Given the description of an element on the screen output the (x, y) to click on. 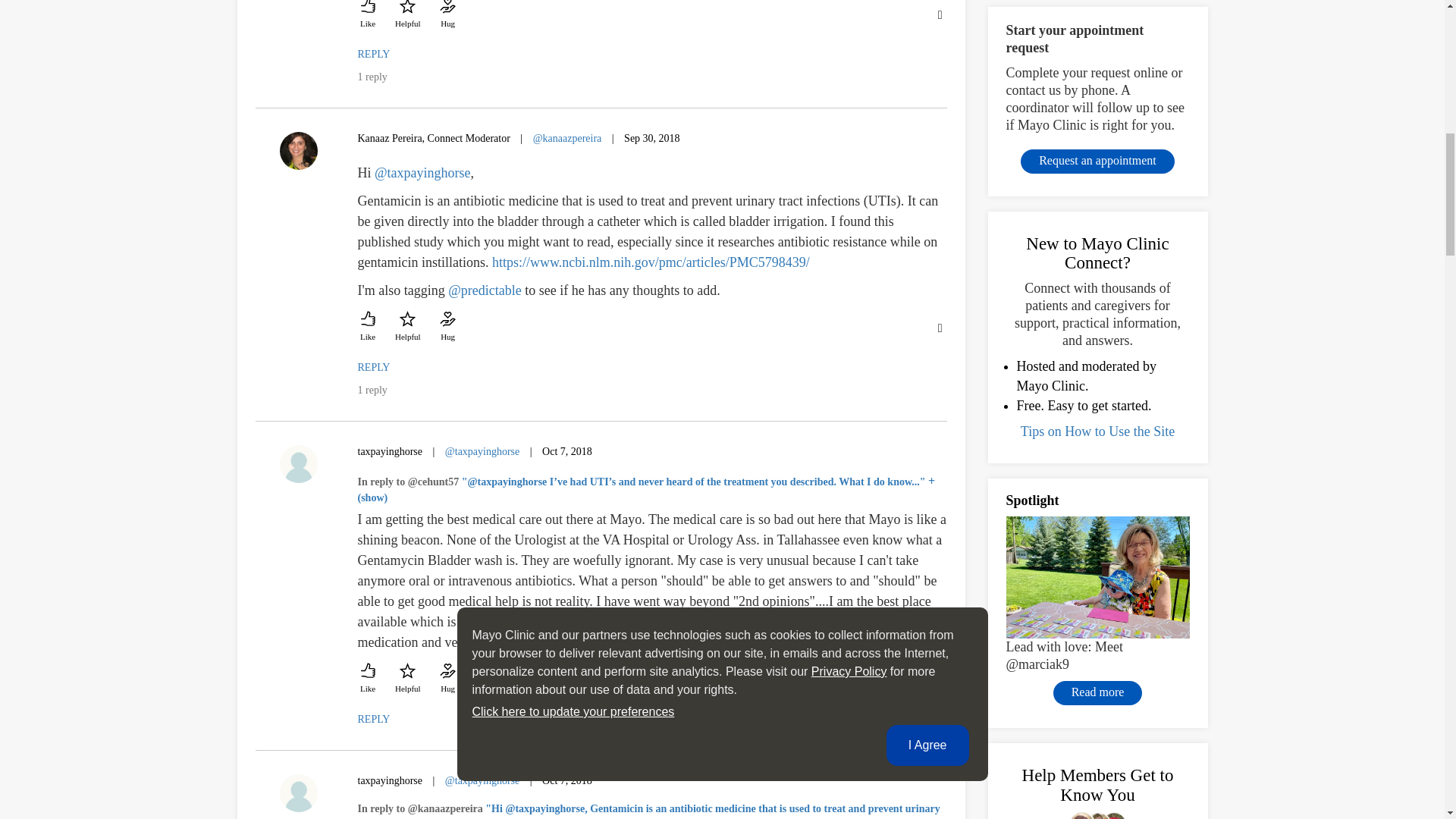
Like this comment to show appreciation for it. (368, 15)
Like (368, 15)
Hug (448, 15)
Helpful: indicate that you found this comment helpful. (407, 15)
Send encouragement for this comment. (448, 15)
Helpful (407, 15)
